Given the description of an element on the screen output the (x, y) to click on. 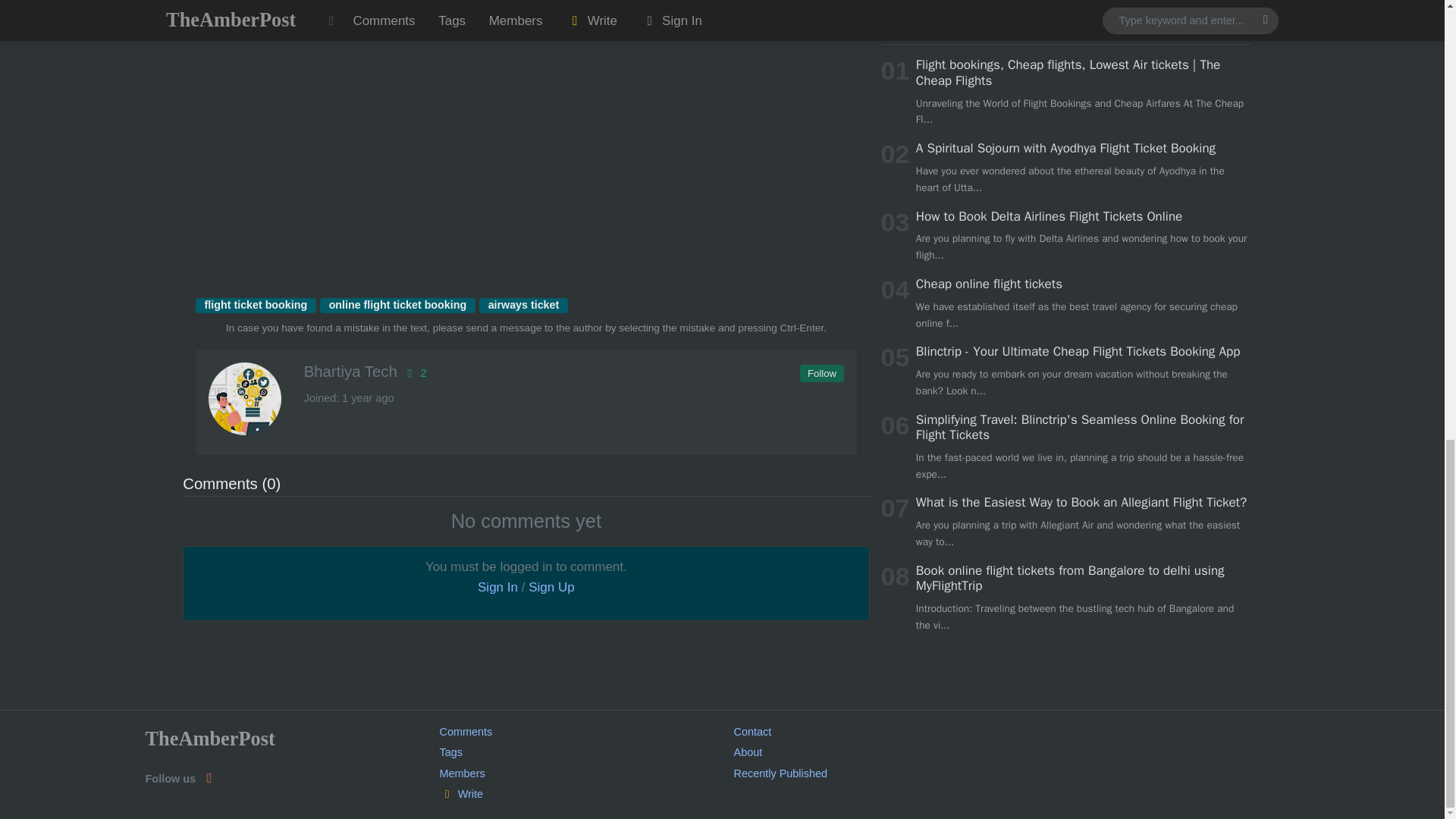
online flight ticket booking (397, 305)
Follow (821, 373)
Sign Up (550, 586)
flight ticket booking (255, 305)
airways ticket (523, 305)
Sign In (497, 586)
online flight ticket booking (397, 305)
Bhartiya Tech 2 (525, 371)
airways ticket (523, 305)
flight ticket booking (255, 305)
Rating (413, 372)
